Given the description of an element on the screen output the (x, y) to click on. 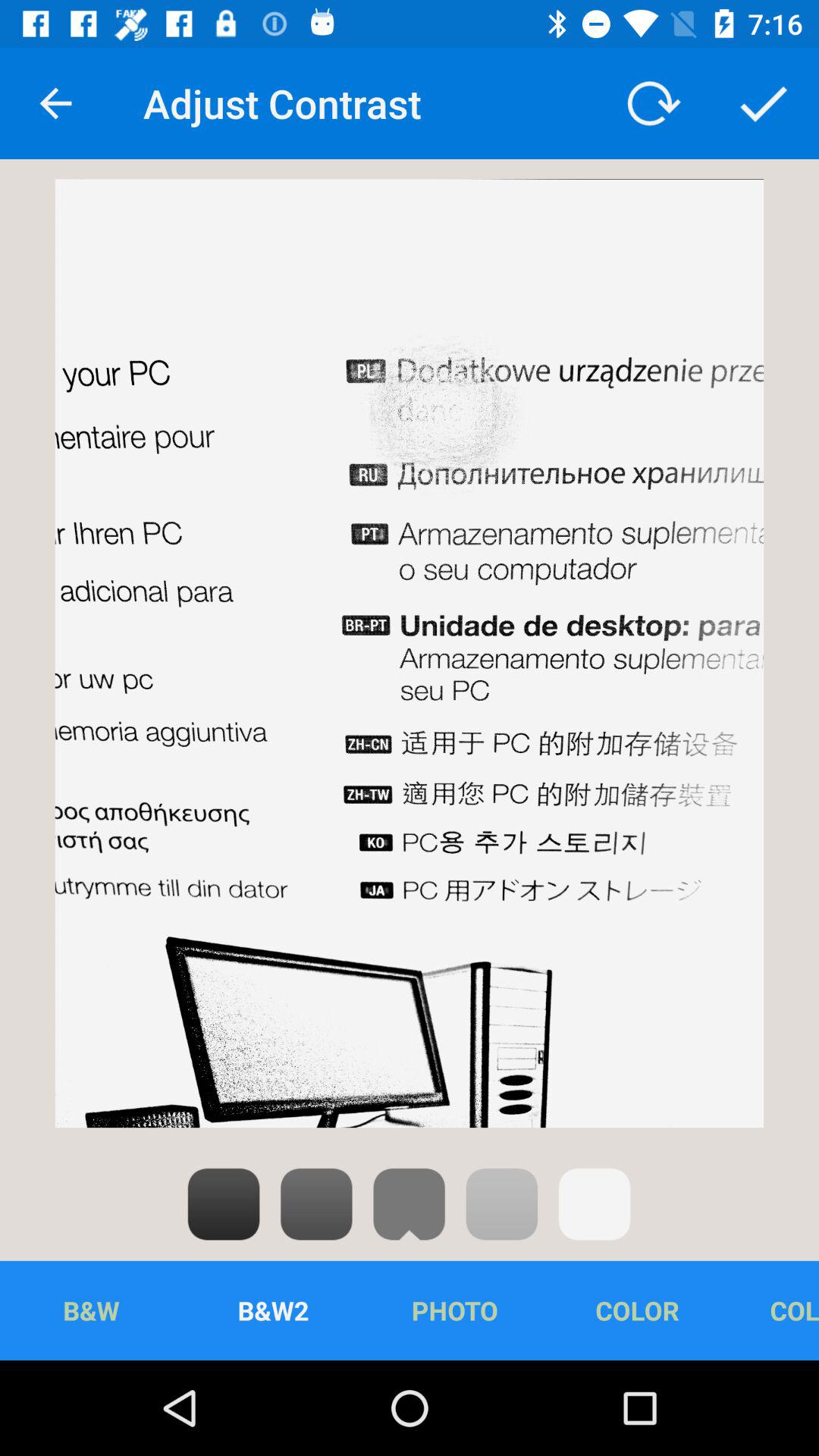
open icon next to the adjust contrast item (651, 103)
